Given the description of an element on the screen output the (x, y) to click on. 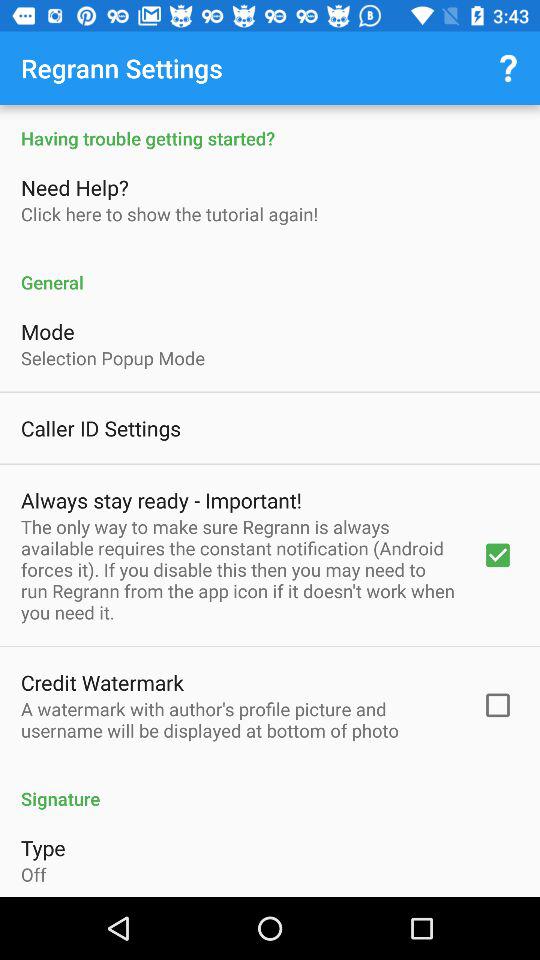
choose the the only way (238, 569)
